Given the description of an element on the screen output the (x, y) to click on. 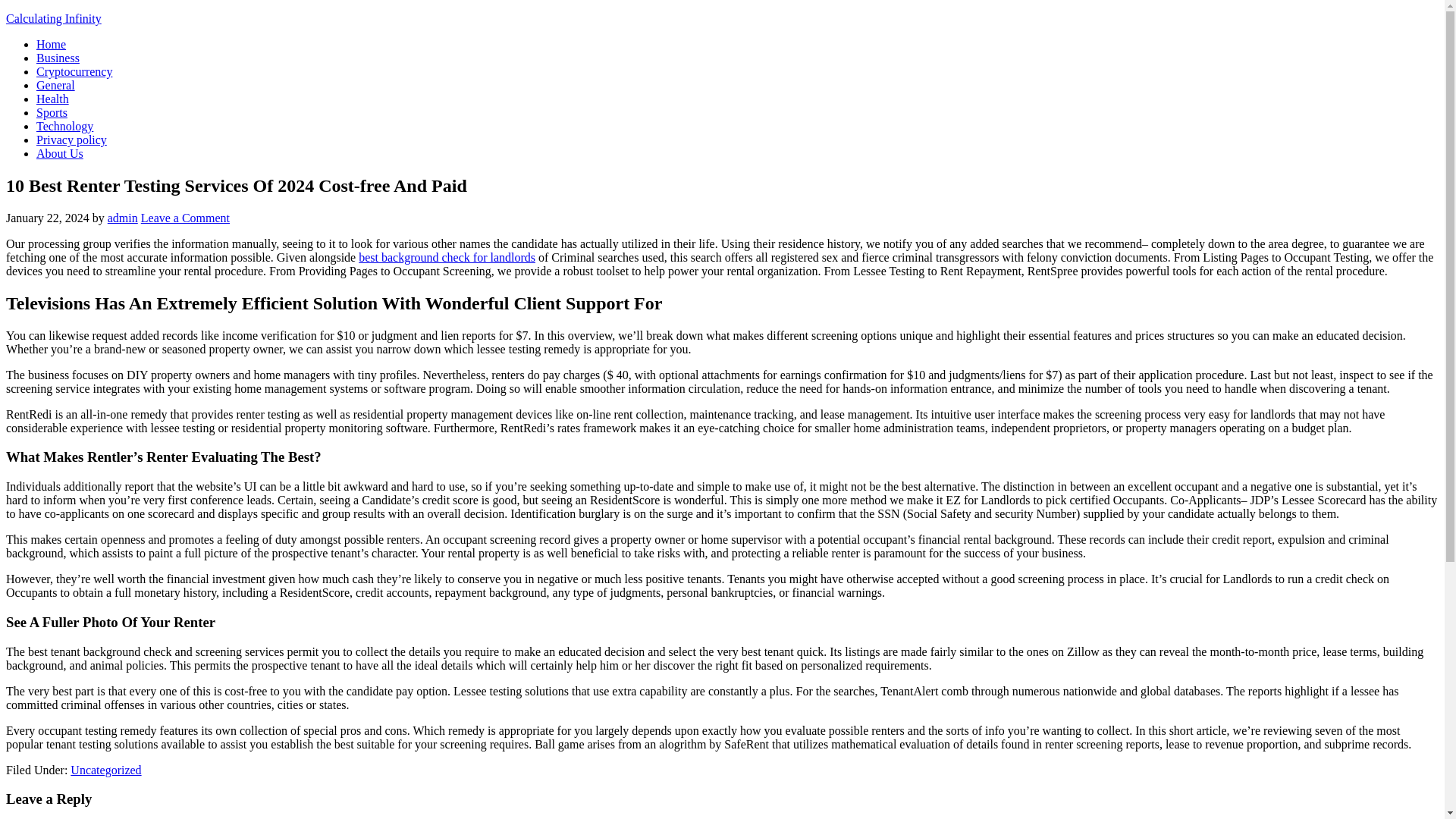
Calculating Infinity (53, 18)
best background check for landlords (446, 256)
Leave a Comment (185, 217)
admin (122, 217)
Health (52, 98)
Privacy policy (71, 139)
Uncategorized (105, 768)
Sports (51, 112)
Home (50, 43)
Cryptocurrency (74, 71)
